Given the description of an element on the screen output the (x, y) to click on. 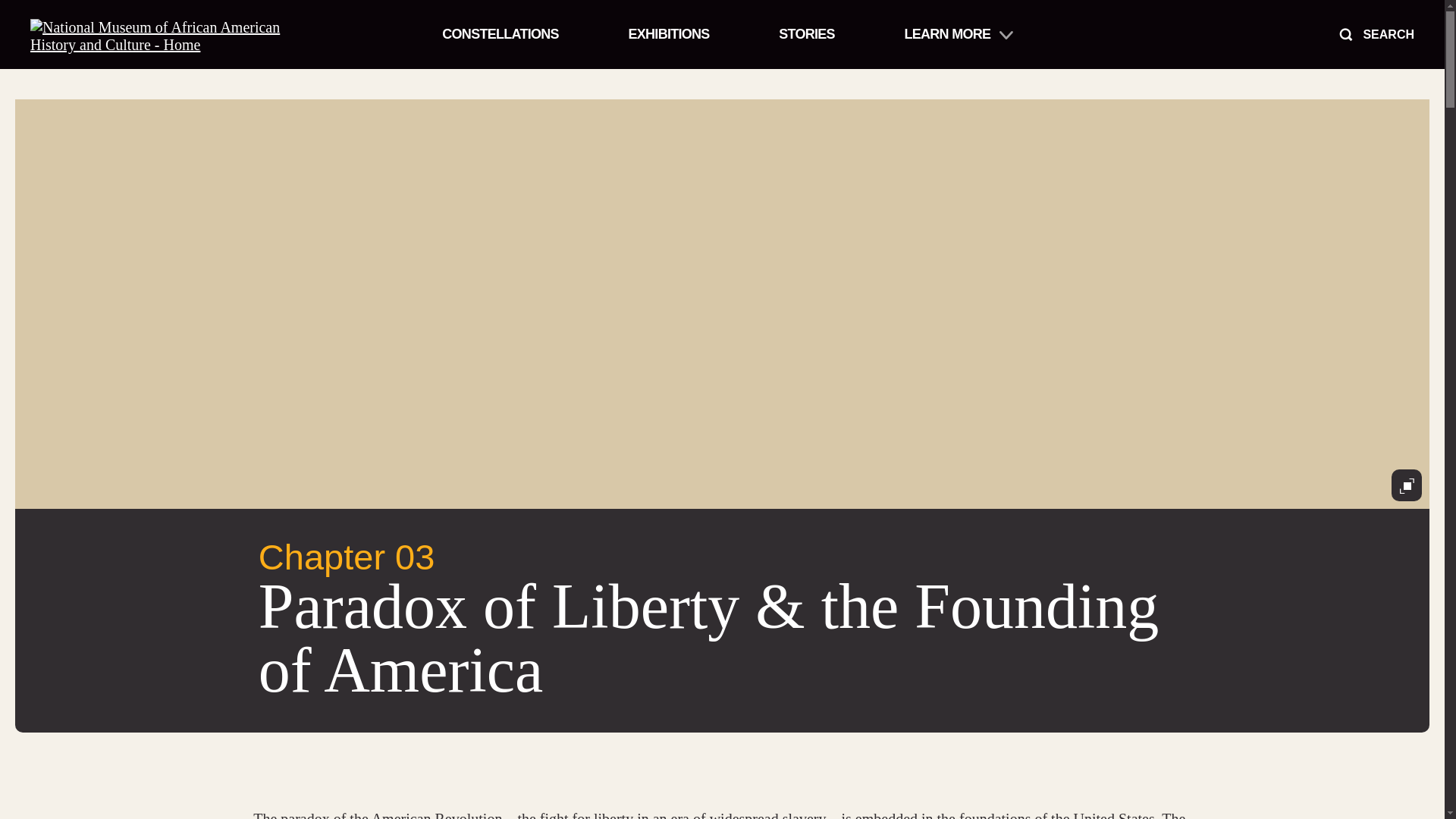
EXHIBITIONS (668, 34)
SEARCH (1374, 33)
CONSTELLATIONS (496, 34)
LEARN MORE (956, 34)
STORIES (806, 34)
